Given the description of an element on the screen output the (x, y) to click on. 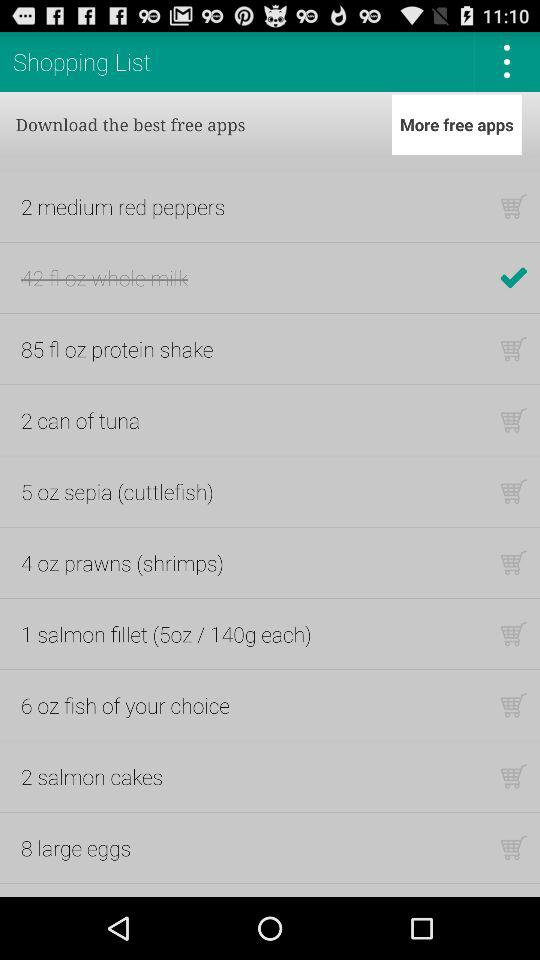
open item below the 2 can of app (117, 491)
